Given the description of an element on the screen output the (x, y) to click on. 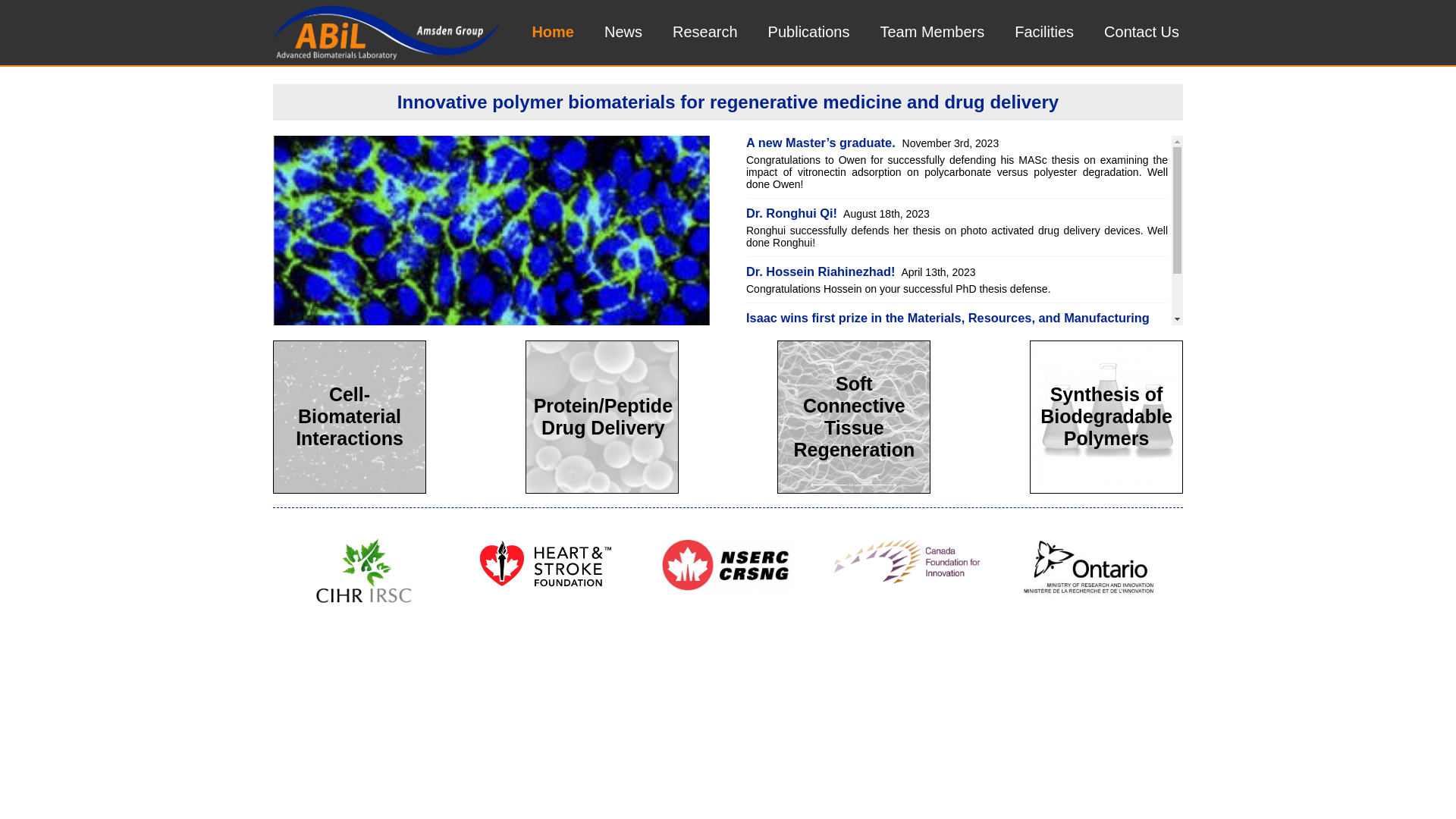
Publications Element type: text (808, 31)
Research Element type: text (704, 31)
Team Members Element type: text (931, 31)
Contact Us Element type: text (1141, 31)
Synthesis of Biodegradable Polymers Element type: text (1106, 418)
News Element type: text (623, 31)
Facilities Element type: text (1043, 31)
Soft Connective Tissue Regeneration Element type: text (853, 418)
Dr. Hossein Riahinezhad! Element type: text (820, 271)
Dr. Ronghui Qi! Element type: text (791, 212)
Cell-Biomaterial Interactions Element type: text (349, 418)
Home Element type: text (552, 31)
Protein/Peptide Drug Delivery Element type: text (601, 418)
